Given the description of an element on the screen output the (x, y) to click on. 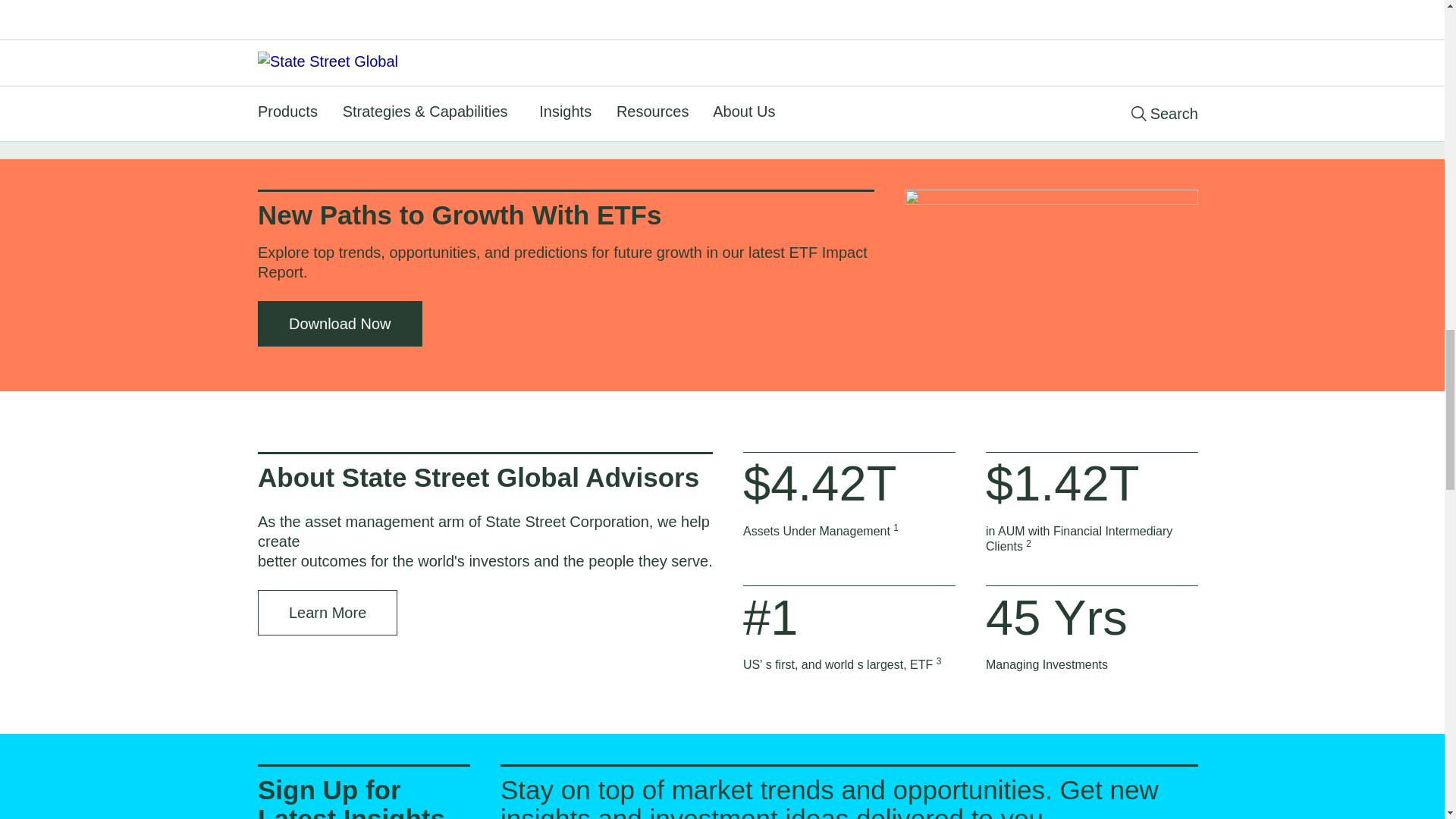
Learn More (327, 45)
Explore Portfolios (833, 94)
Learn More (327, 612)
Download Now (339, 322)
